Given the description of an element on the screen output the (x, y) to click on. 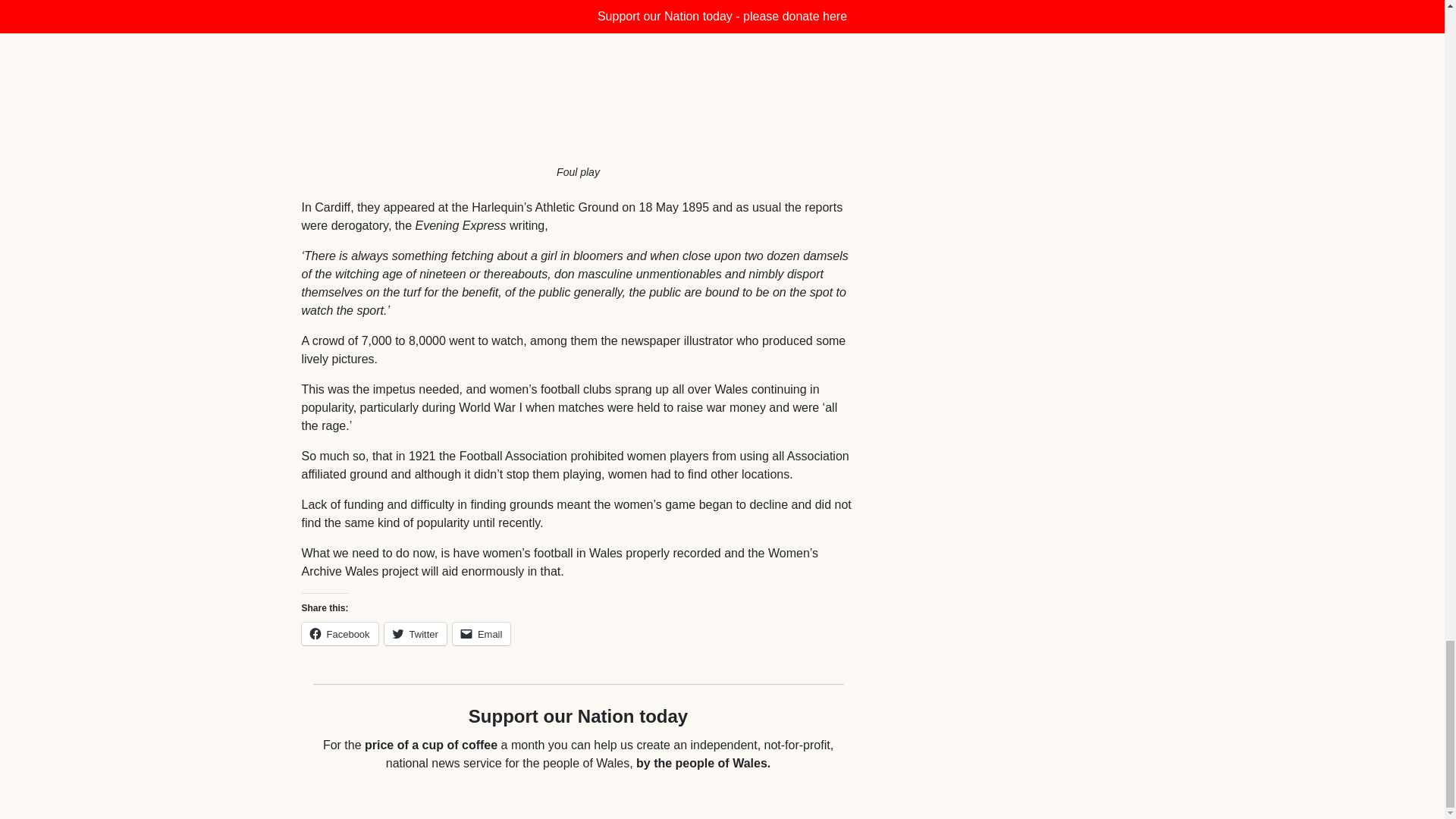
Click to share on Twitter (415, 633)
Facebook (339, 633)
Click to email a link to a friend (481, 633)
Email (481, 633)
Twitter (415, 633)
Click to share on Facebook (339, 633)
